Given the description of an element on the screen output the (x, y) to click on. 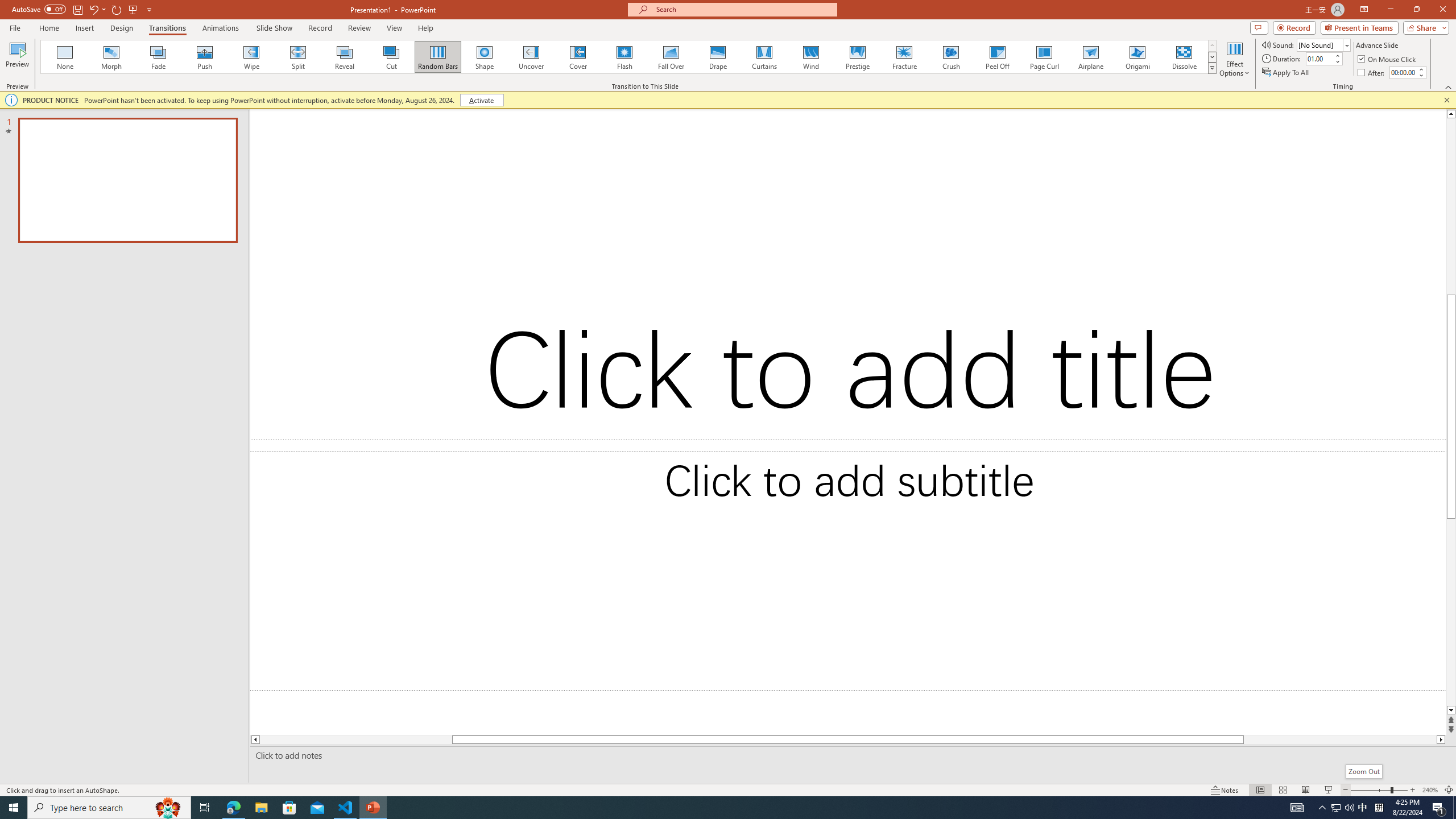
Crush (950, 56)
Flash (624, 56)
Morph (111, 56)
Fall Over (670, 56)
Push (205, 56)
Prestige (857, 56)
